Given the description of an element on the screen output the (x, y) to click on. 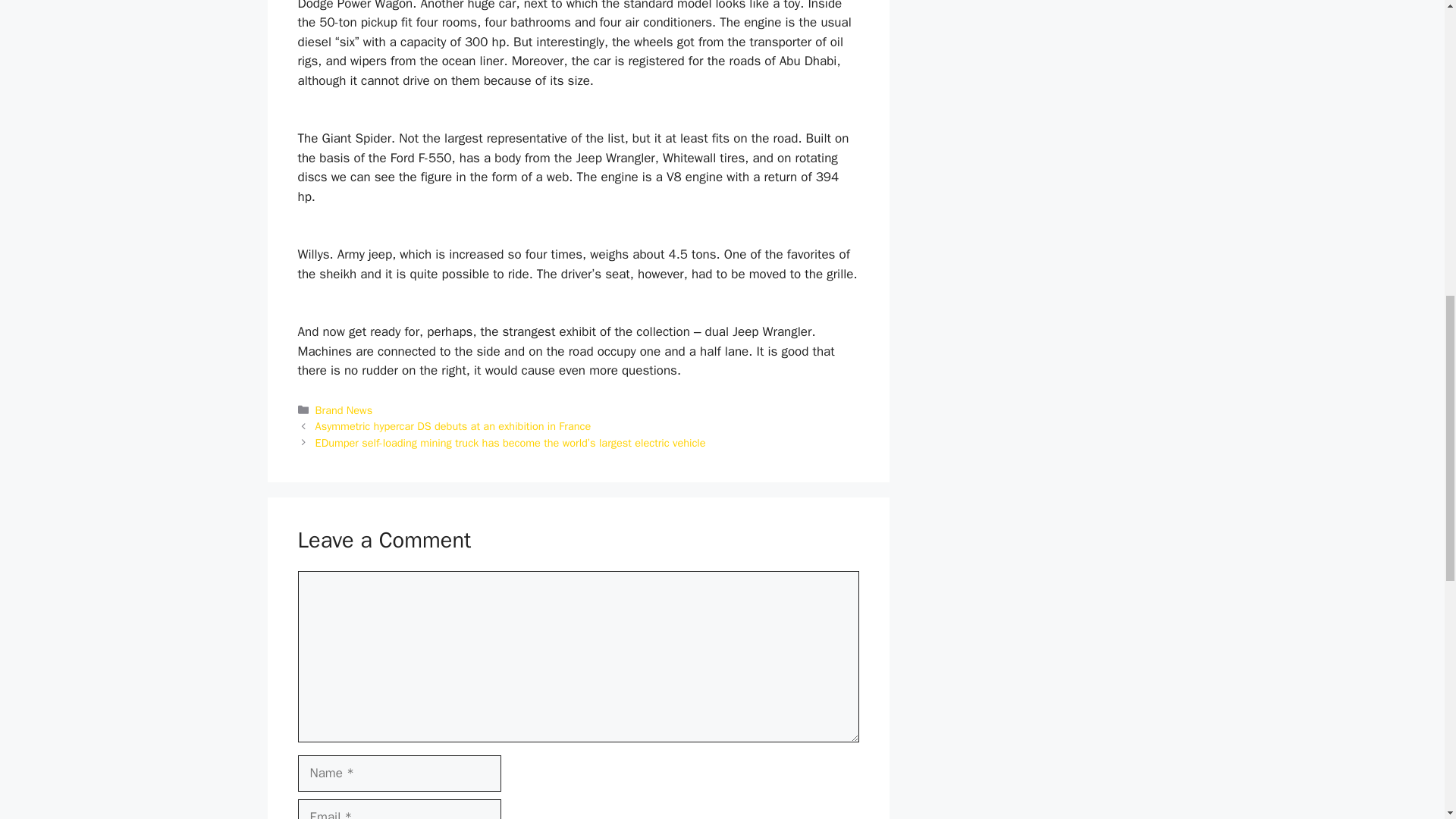
Asymmetric hypercar DS debuts at an exhibition in France (453, 426)
Brand News (343, 409)
